Given the description of an element on the screen output the (x, y) to click on. 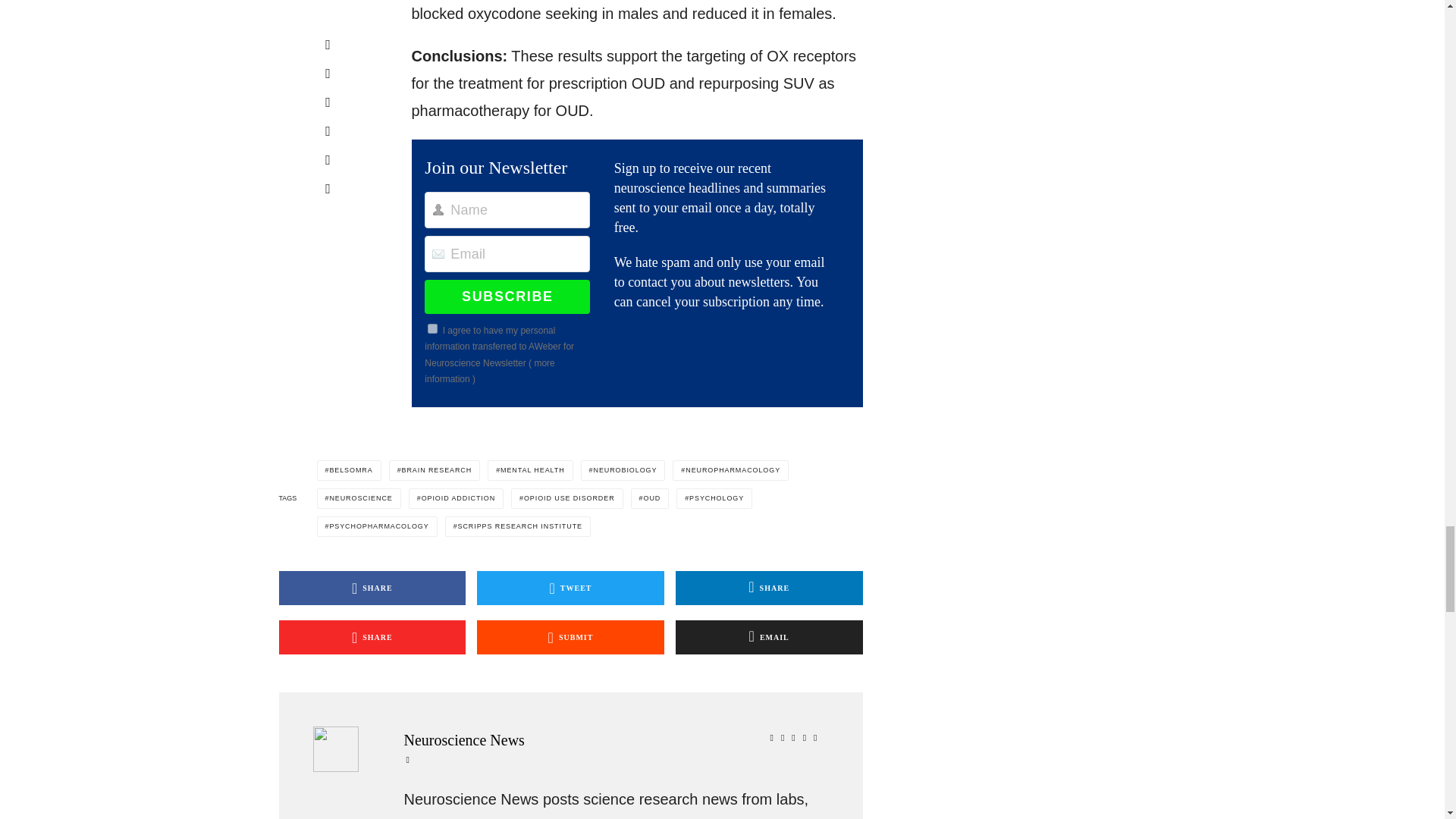
SUBSCRIBE (507, 296)
BELSOMRA (349, 470)
NEUROSCIENCE (359, 498)
SCRIPPS RESEARCH INSTITUTE (518, 526)
OPIOID ADDICTION (456, 498)
MENTAL HEALTH (529, 470)
SUBSCRIBE (507, 296)
SHARE (372, 587)
OPIOID USE DISORDER (567, 498)
OUD (649, 498)
